Given the description of an element on the screen output the (x, y) to click on. 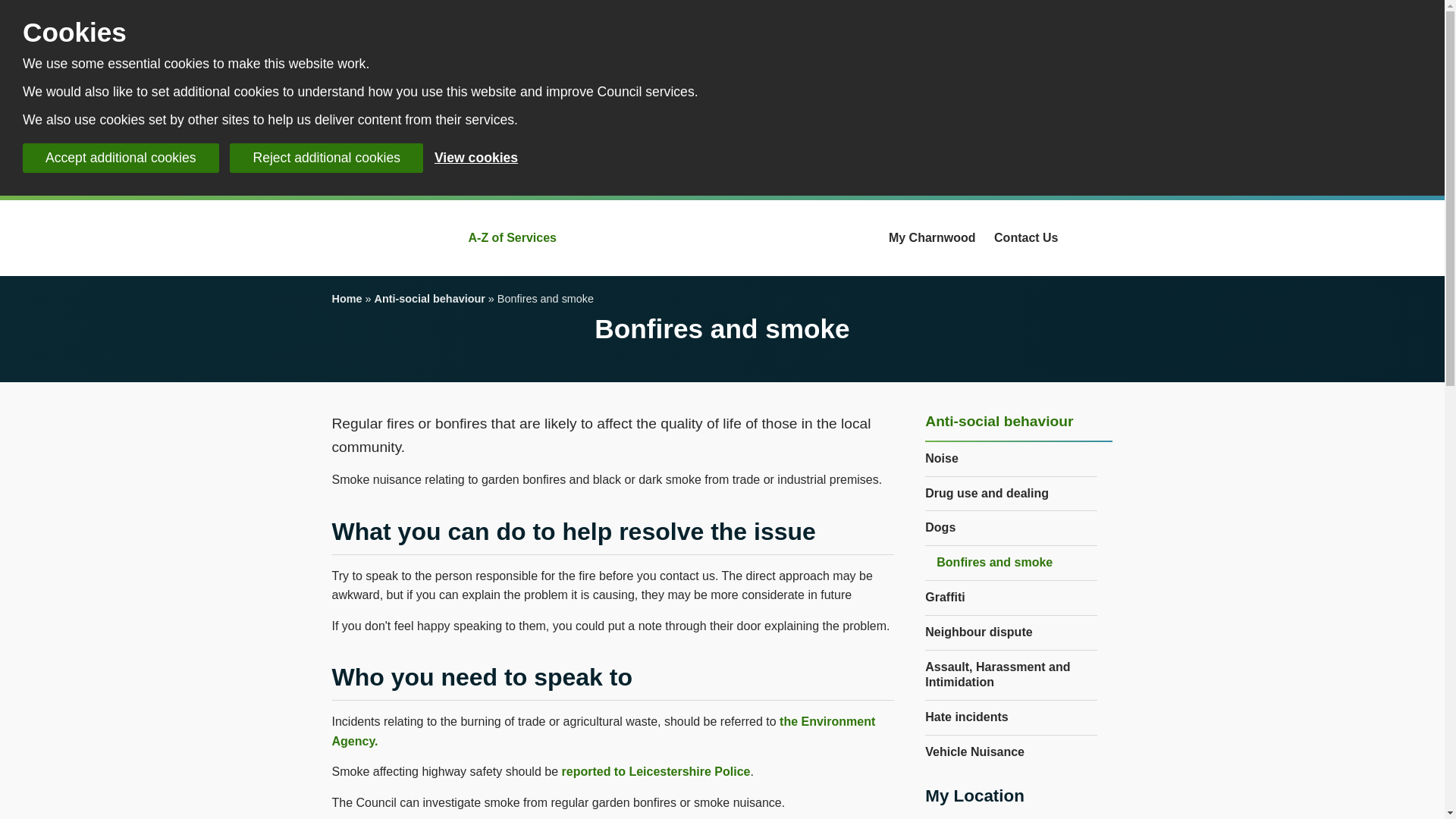
Home (346, 298)
Search (1101, 238)
Reject additional cookies (326, 157)
A-Z of Services (512, 238)
reported to Leicestershire Police (654, 771)
Anti-social behaviour (429, 298)
My Charnwood (931, 238)
the Environment Agency. (603, 730)
Search (1101, 238)
Contact Us (1026, 238)
